Given the description of an element on the screen output the (x, y) to click on. 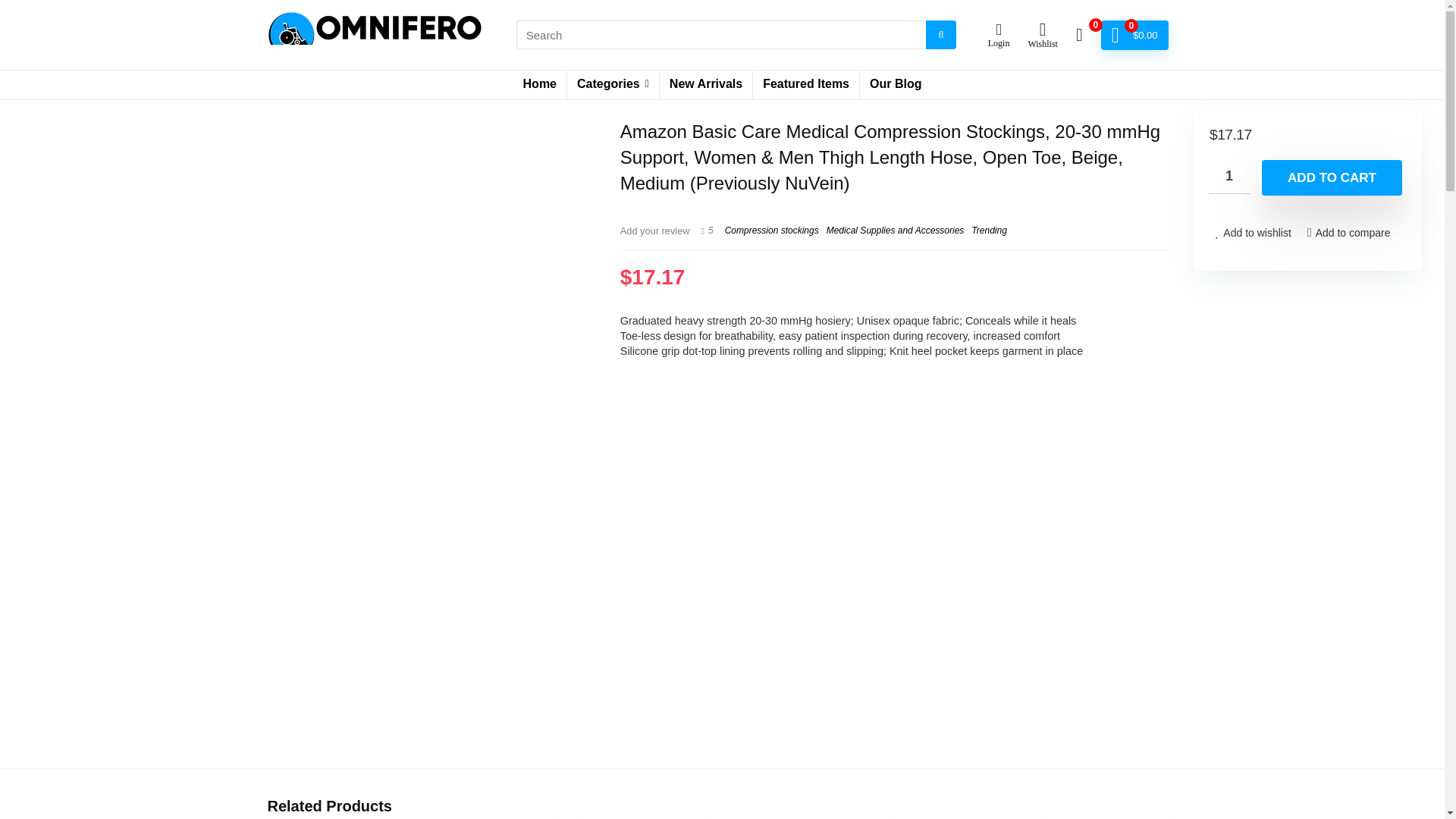
View all posts in Trending (988, 230)
Add your review (655, 230)
1 (1229, 176)
View all posts in Compression stockings (771, 230)
Home (539, 84)
View all posts in Medical Supplies and Accessories (895, 230)
Categories (613, 84)
